Given the description of an element on the screen output the (x, y) to click on. 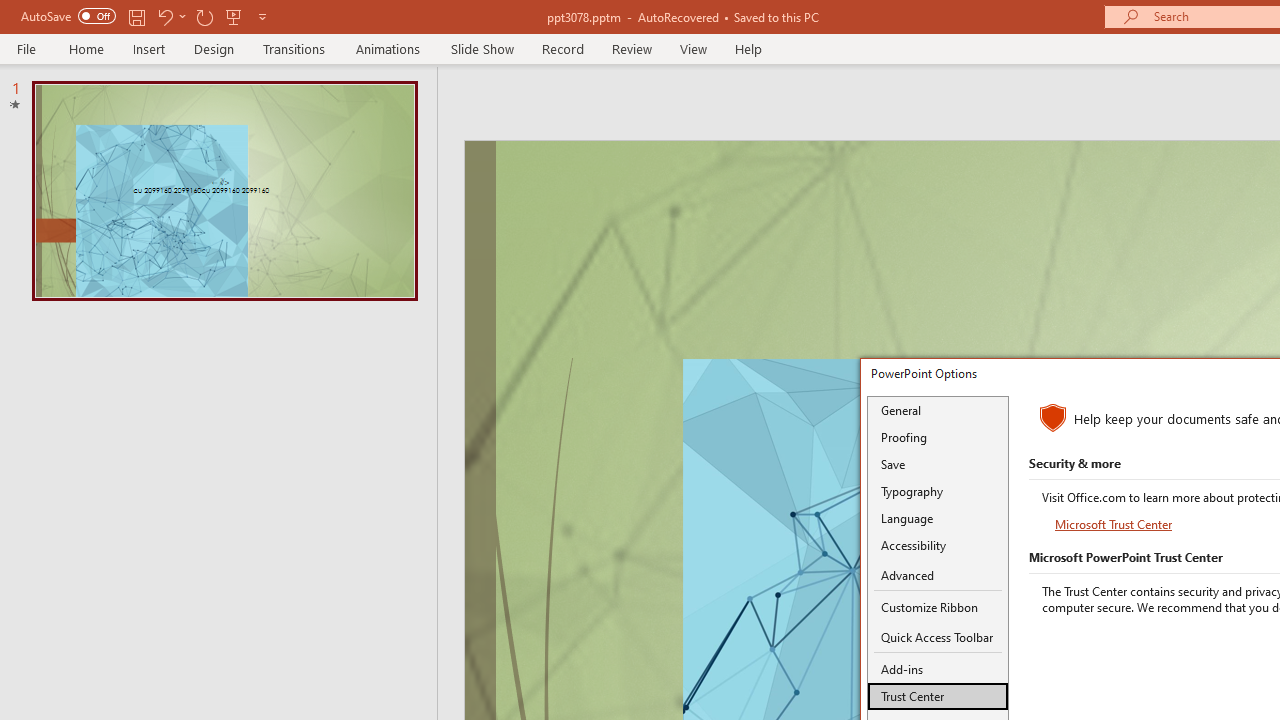
Customize Ribbon (937, 607)
